Given the description of an element on the screen output the (x, y) to click on. 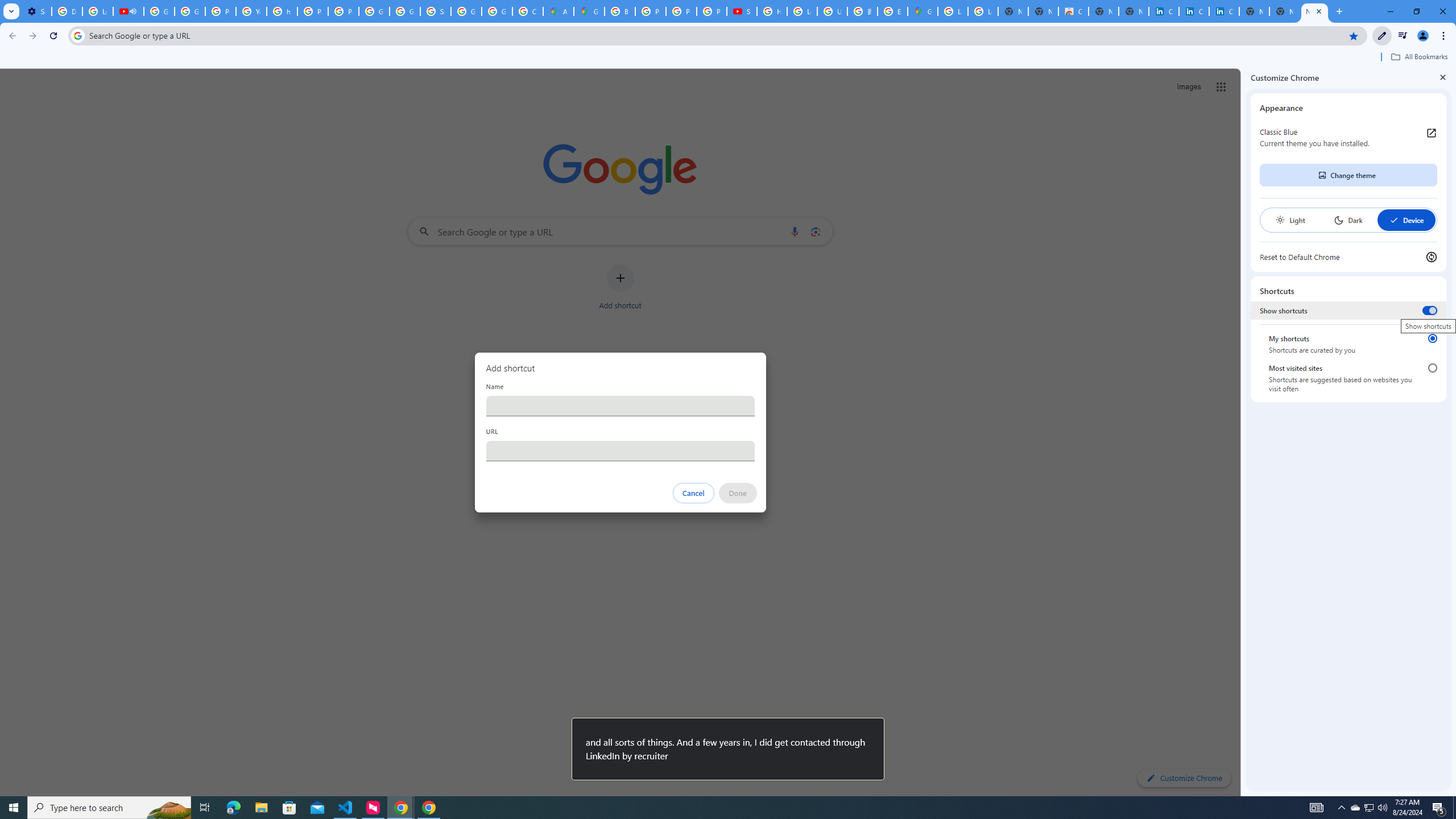
Google Maps (589, 11)
Control your music, videos, and more (1402, 35)
Search icon (77, 35)
Mute tab (133, 10)
https://scholar.google.com/ (282, 11)
Google Account Help (189, 11)
My shortcuts (1432, 338)
AutomationID: baseSvg (1394, 219)
